Given the description of an element on the screen output the (x, y) to click on. 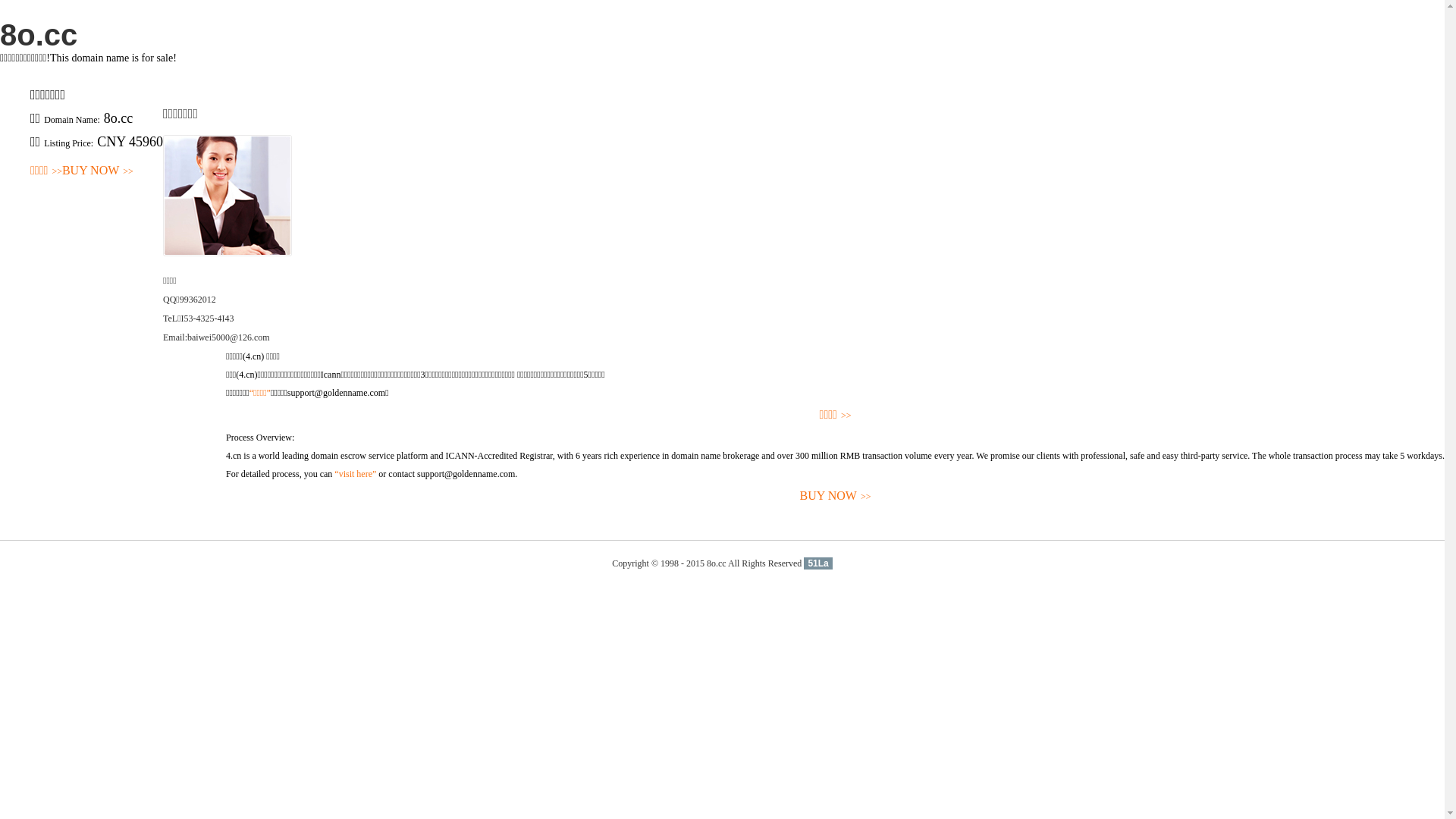
51La Element type: text (817, 563)
BUY NOW>> Element type: text (834, 496)
BUY NOW>> Element type: text (97, 170)
